Given the description of an element on the screen output the (x, y) to click on. 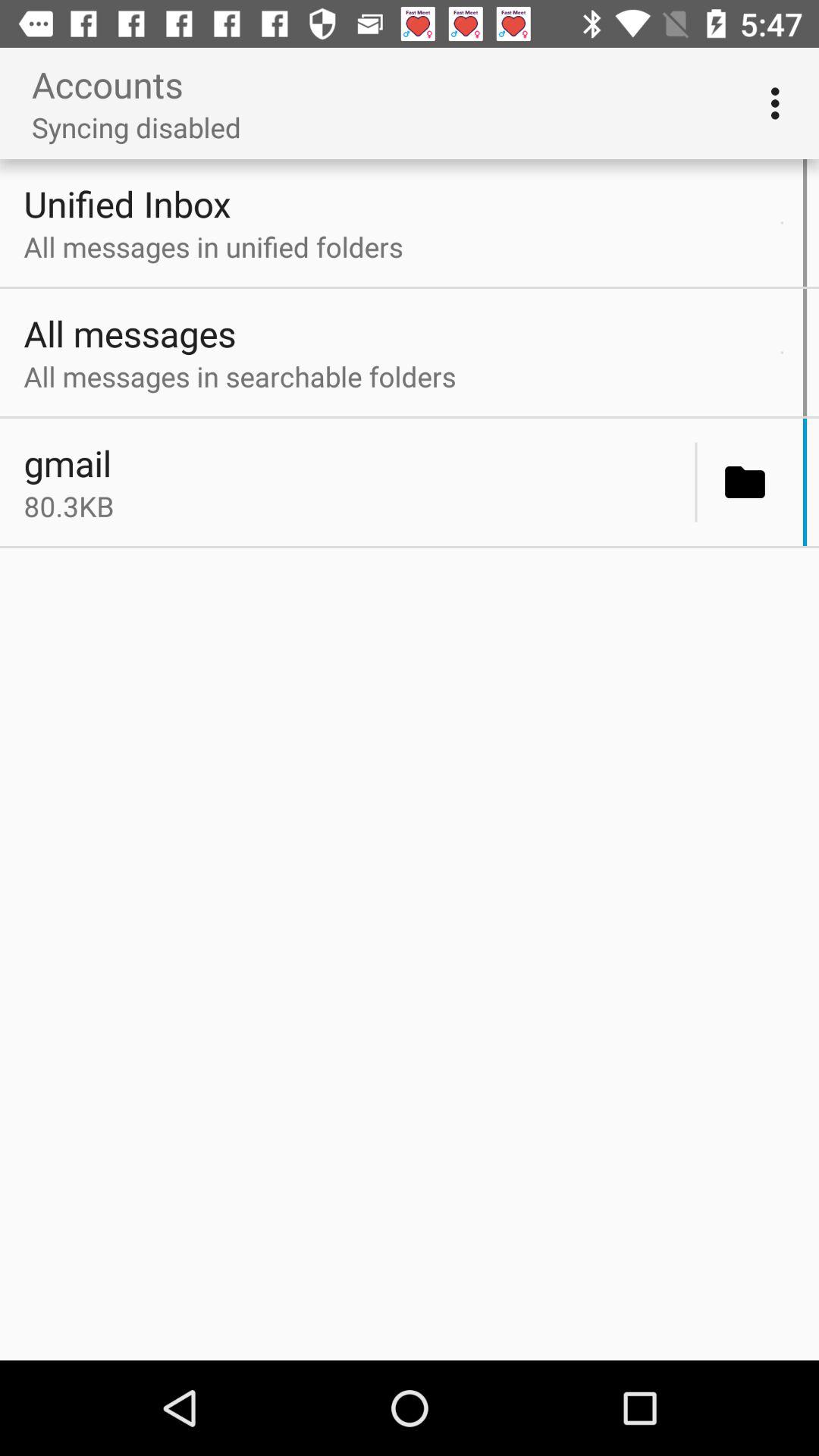
open the item below the all messages in icon (781, 352)
